Given the description of an element on the screen output the (x, y) to click on. 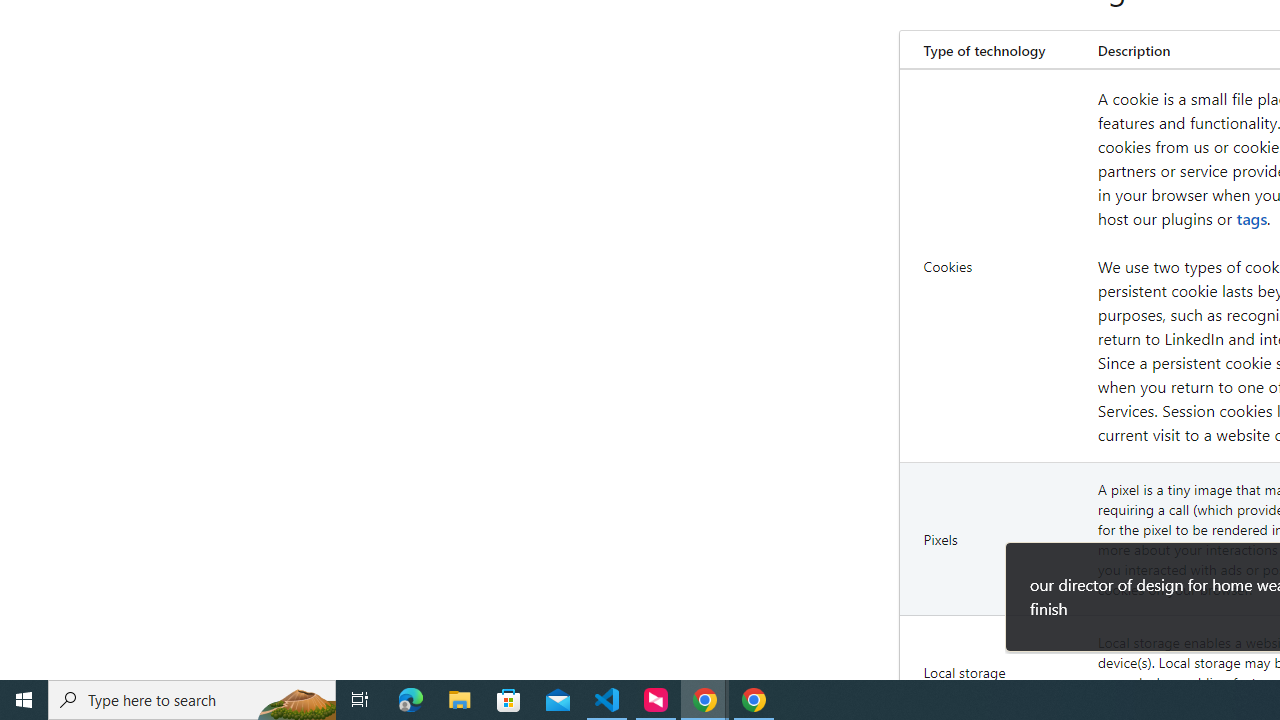
tags (1252, 217)
